Given the description of an element on the screen output the (x, y) to click on. 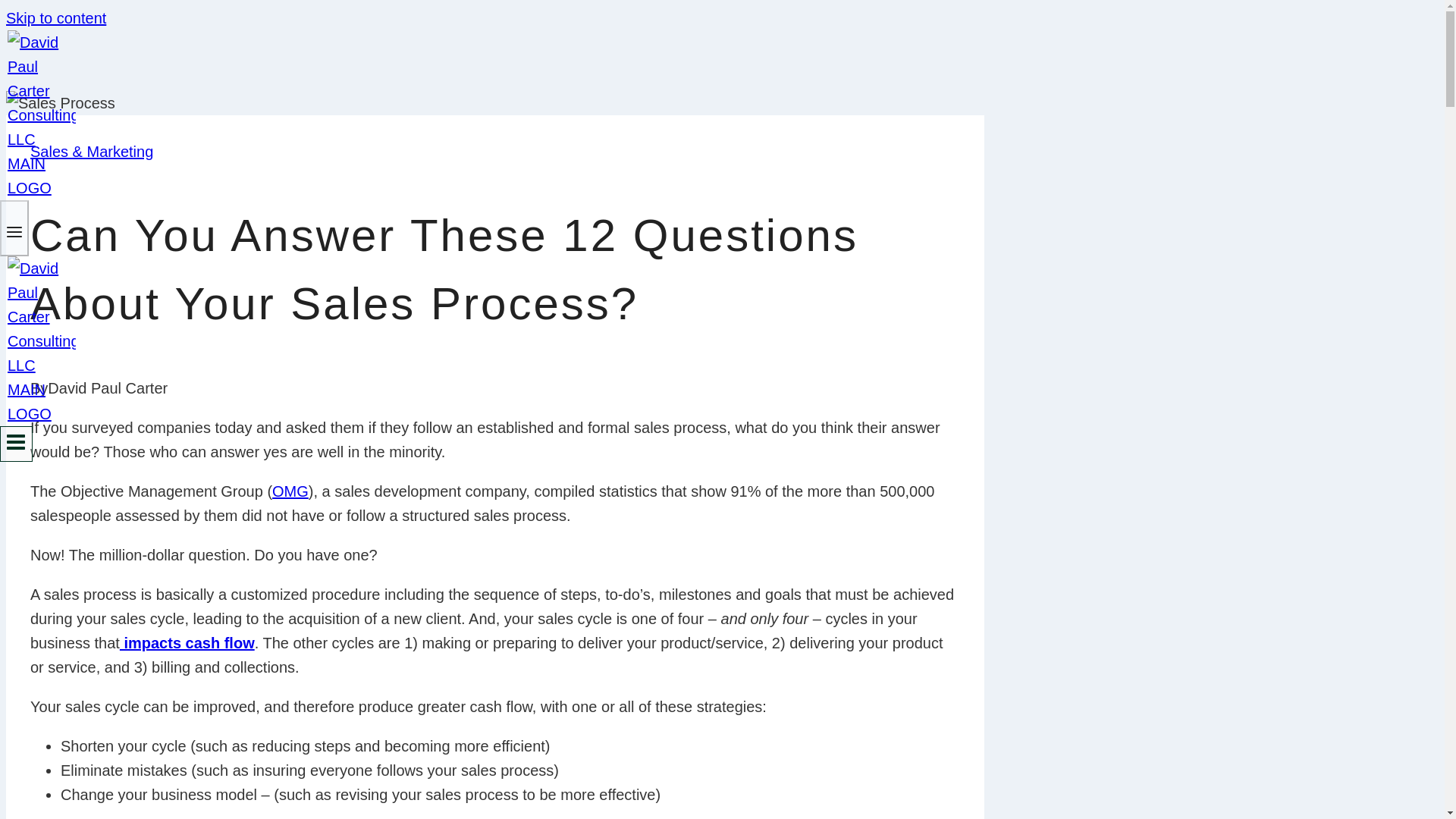
OMG (290, 491)
Skip to content (55, 17)
impacts cash flow (186, 642)
Toggle Menu (16, 443)
Skip to content (55, 17)
Toggle Menu (14, 231)
